Given the description of an element on the screen output the (x, y) to click on. 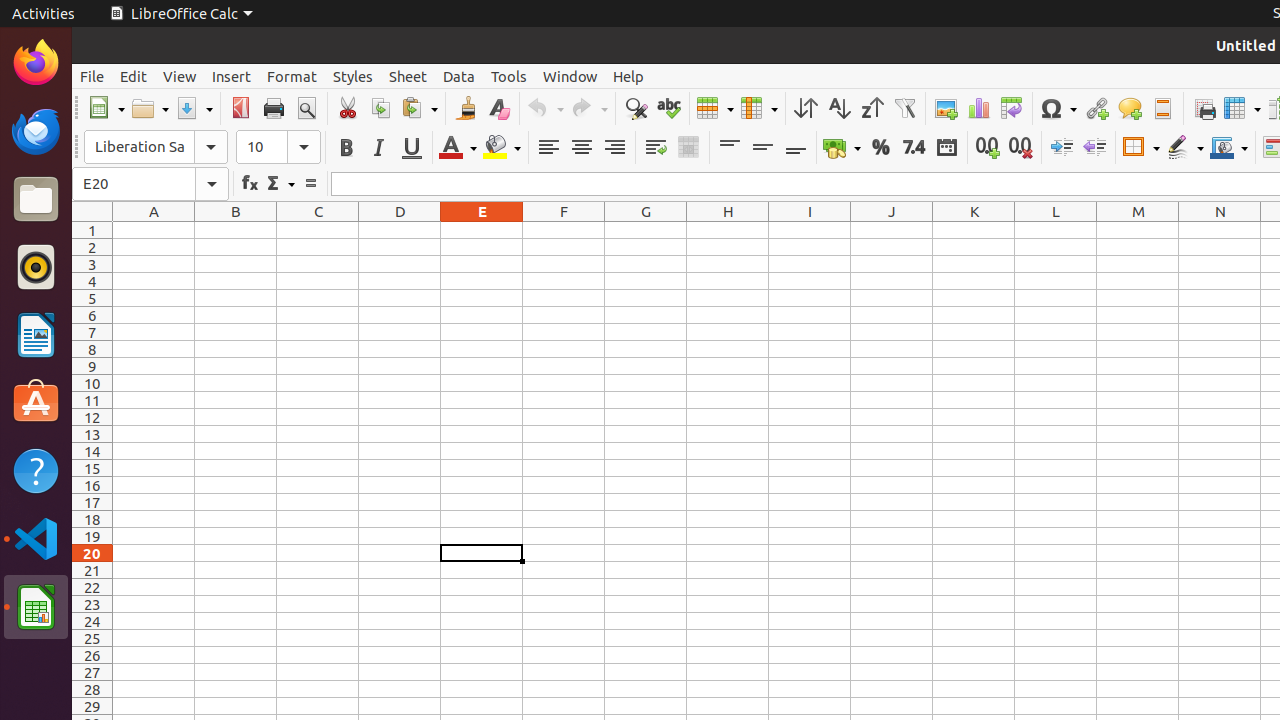
J1 Element type: table-cell (892, 230)
Sort Element type: push-button (805, 108)
H1 Element type: table-cell (728, 230)
Underline Element type: push-button (411, 147)
Freeze Rows and Columns Element type: push-button (1242, 108)
